Given the description of an element on the screen output the (x, y) to click on. 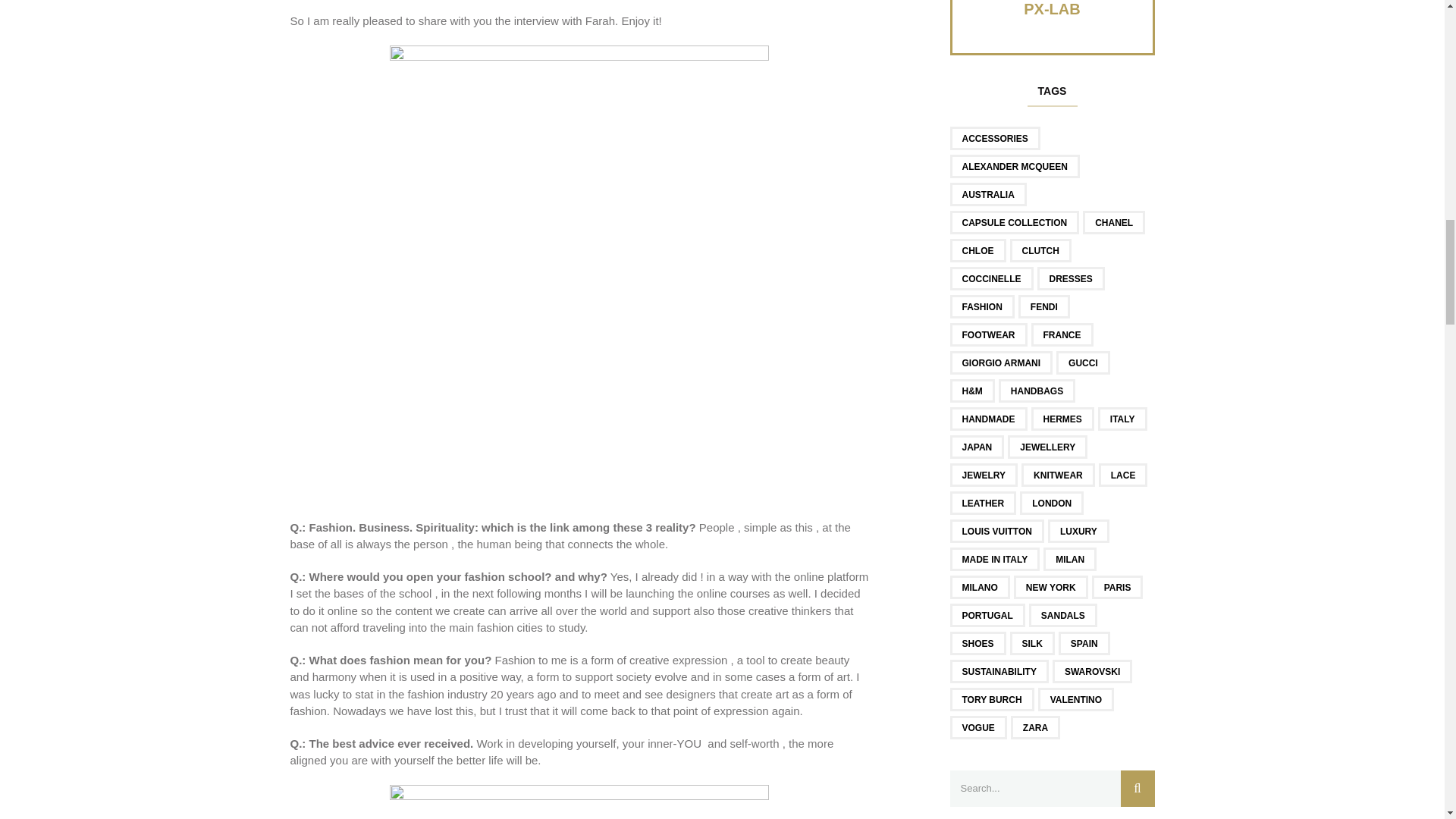
Search for: (1051, 788)
